Given the description of an element on the screen output the (x, y) to click on. 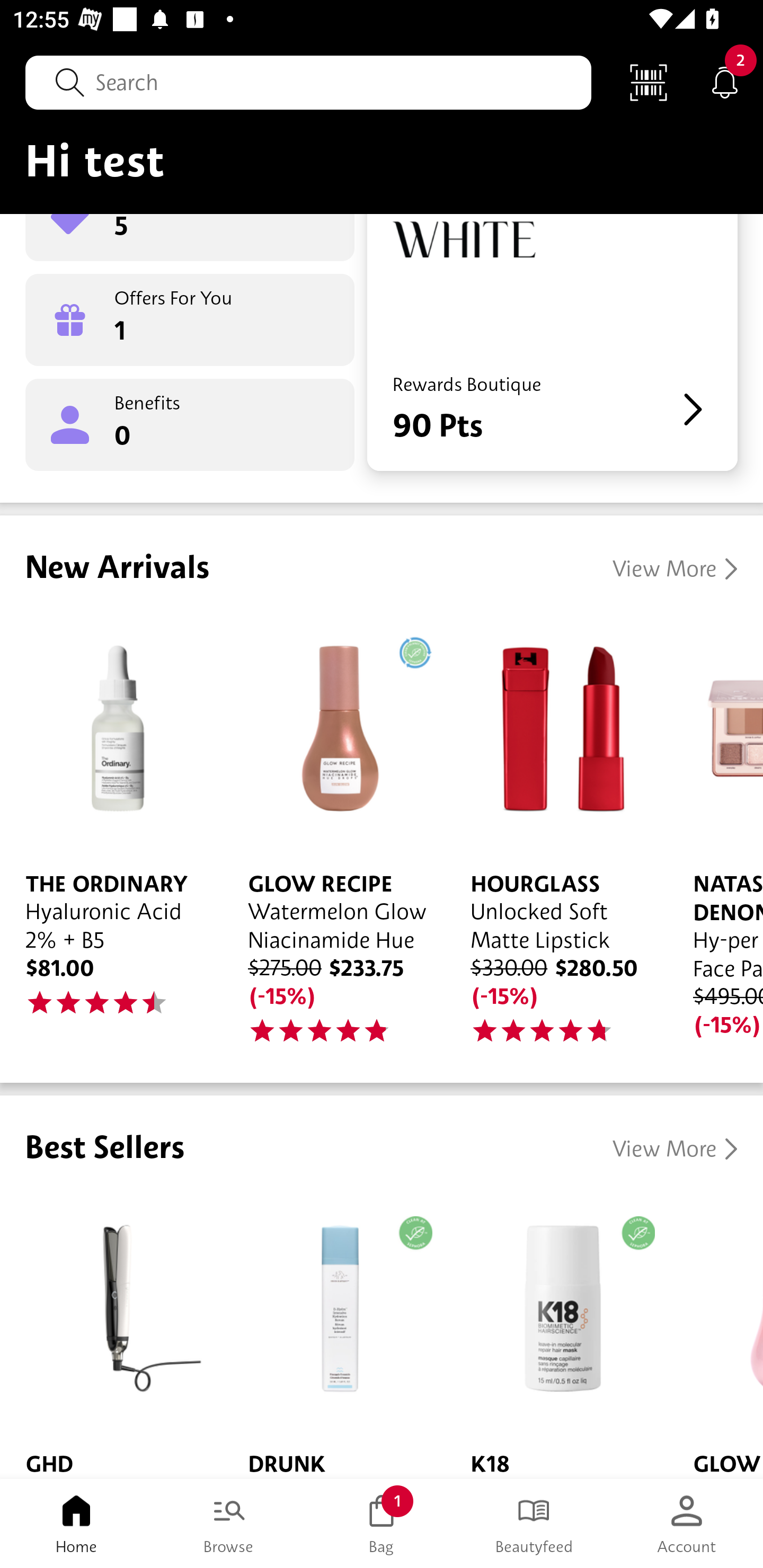
Scan Code (648, 81)
Notifications (724, 81)
Search (308, 81)
Rewards Boutique 90 Pts (552, 341)
Offers For You 1 (189, 319)
Benefits 0 (189, 424)
View More (674, 569)
THE ORDINARY Hyaluronic Acid 2% + B5 $81.00 45.0 (111, 828)
View More (674, 1149)
GHD Platinum+ Styler (111, 1334)
DRUNK ELEPHANT (333, 1334)
K18 Leave-in Molecular Repair Hair Mask (555, 1334)
Browse (228, 1523)
Bag 1 Bag (381, 1523)
Beautyfeed (533, 1523)
Account (686, 1523)
